Given the description of an element on the screen output the (x, y) to click on. 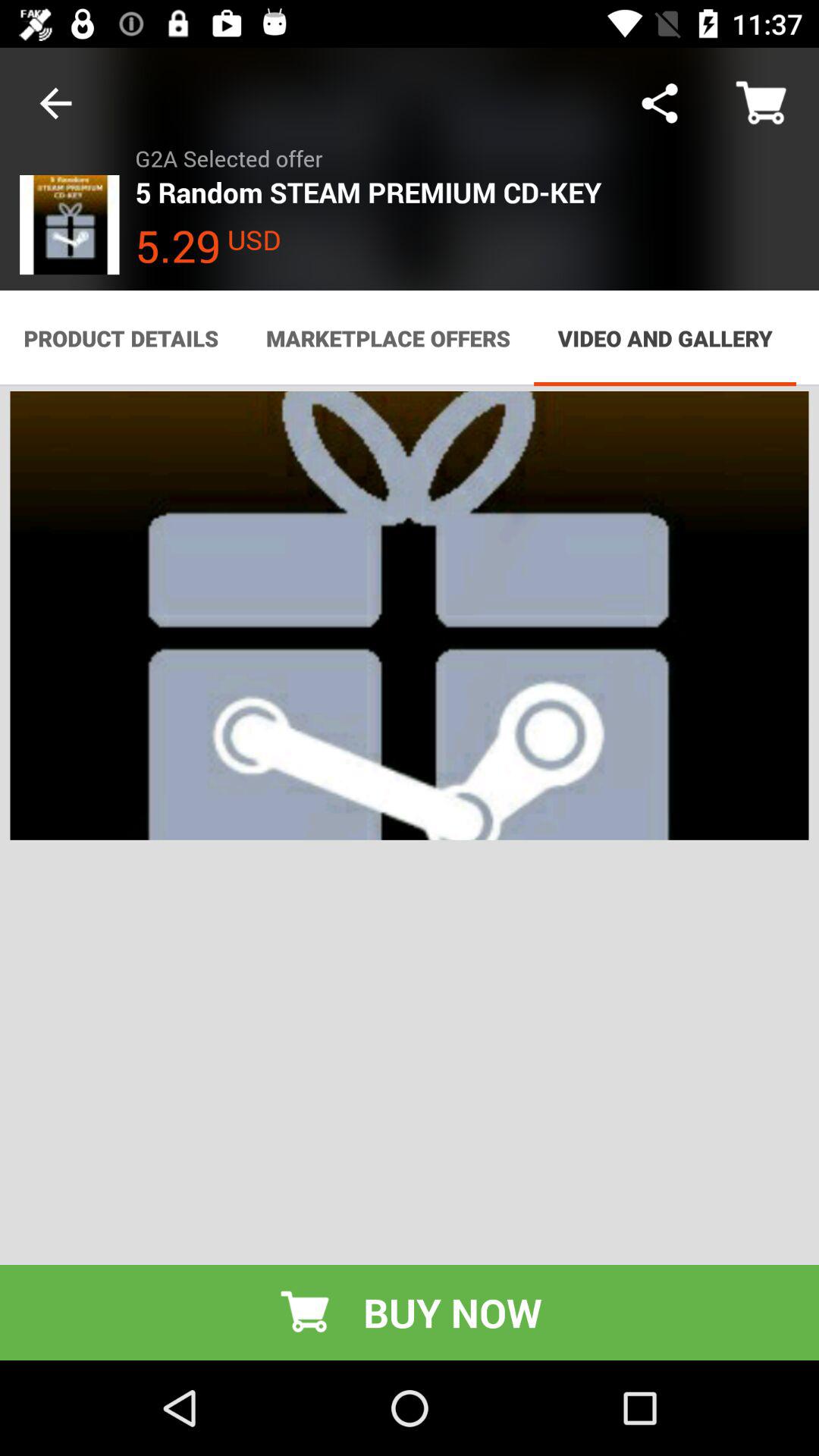
select icon next to g2a selected offer item (55, 103)
